Given the description of an element on the screen output the (x, y) to click on. 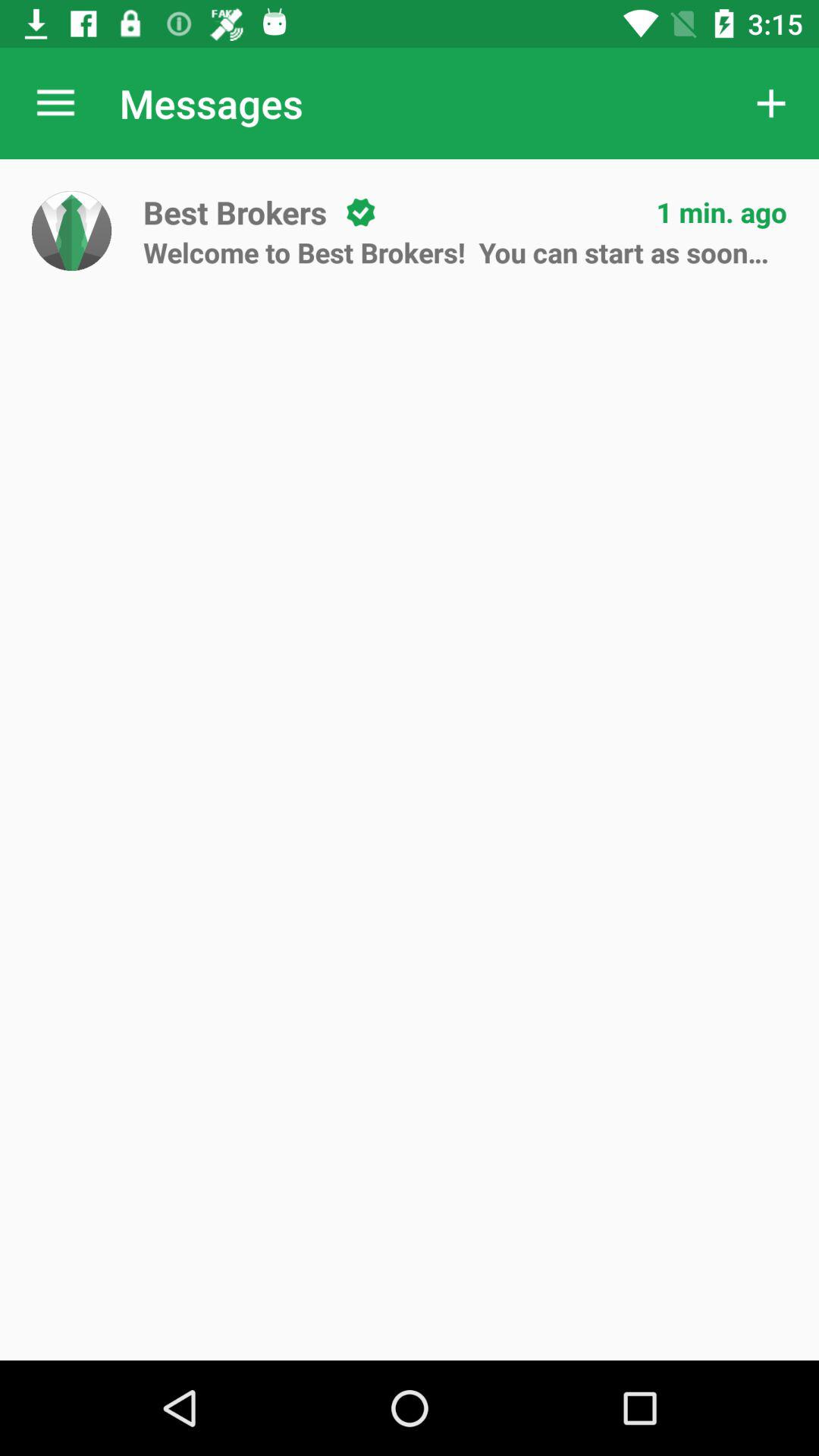
press the app to the left of the messages item (55, 103)
